Given the description of an element on the screen output the (x, y) to click on. 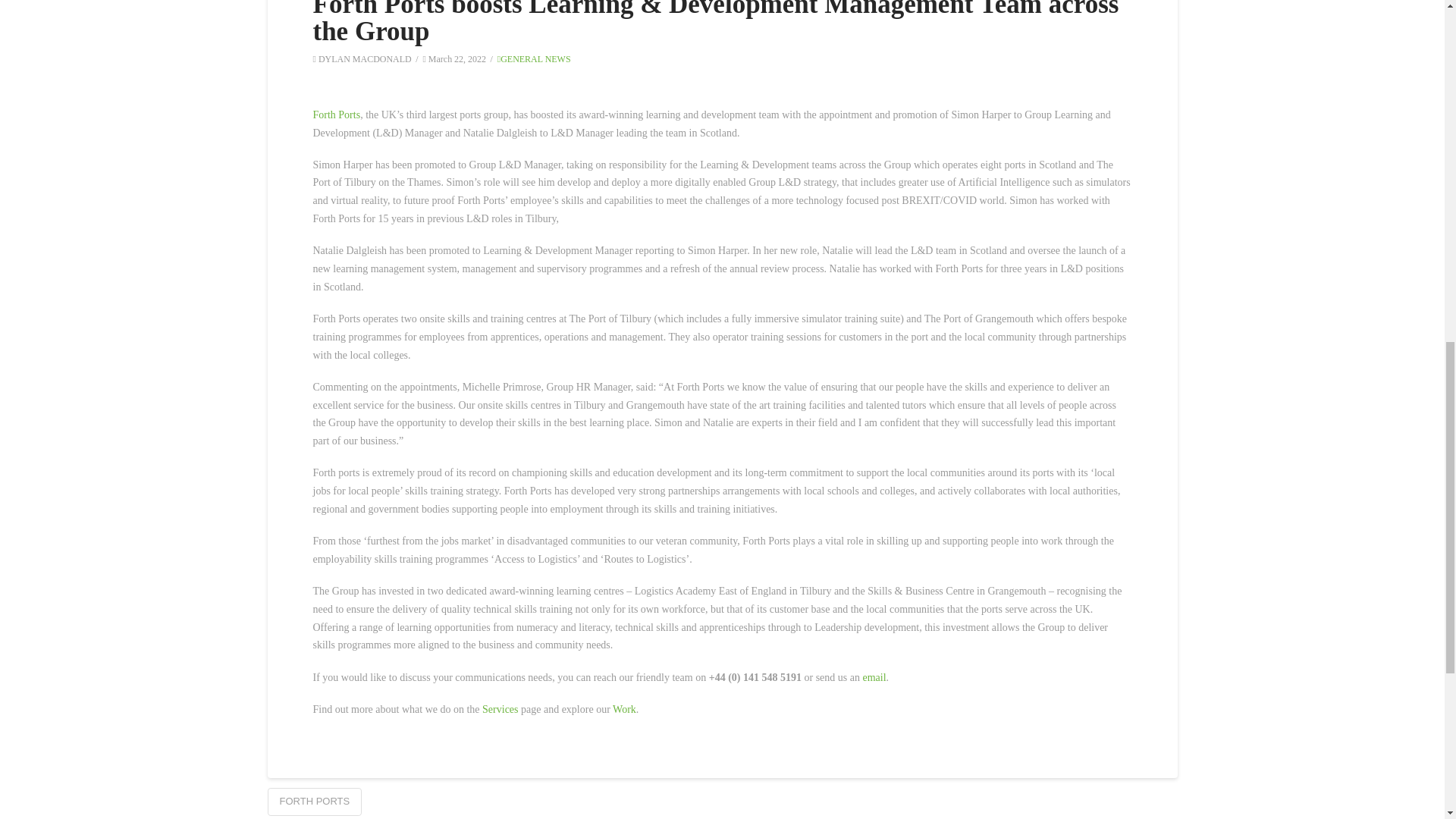
GENERAL NEWS (533, 59)
FORTH PORTS (313, 801)
Forth Ports (336, 114)
email (873, 677)
Work (624, 708)
Services (499, 708)
